Given the description of an element on the screen output the (x, y) to click on. 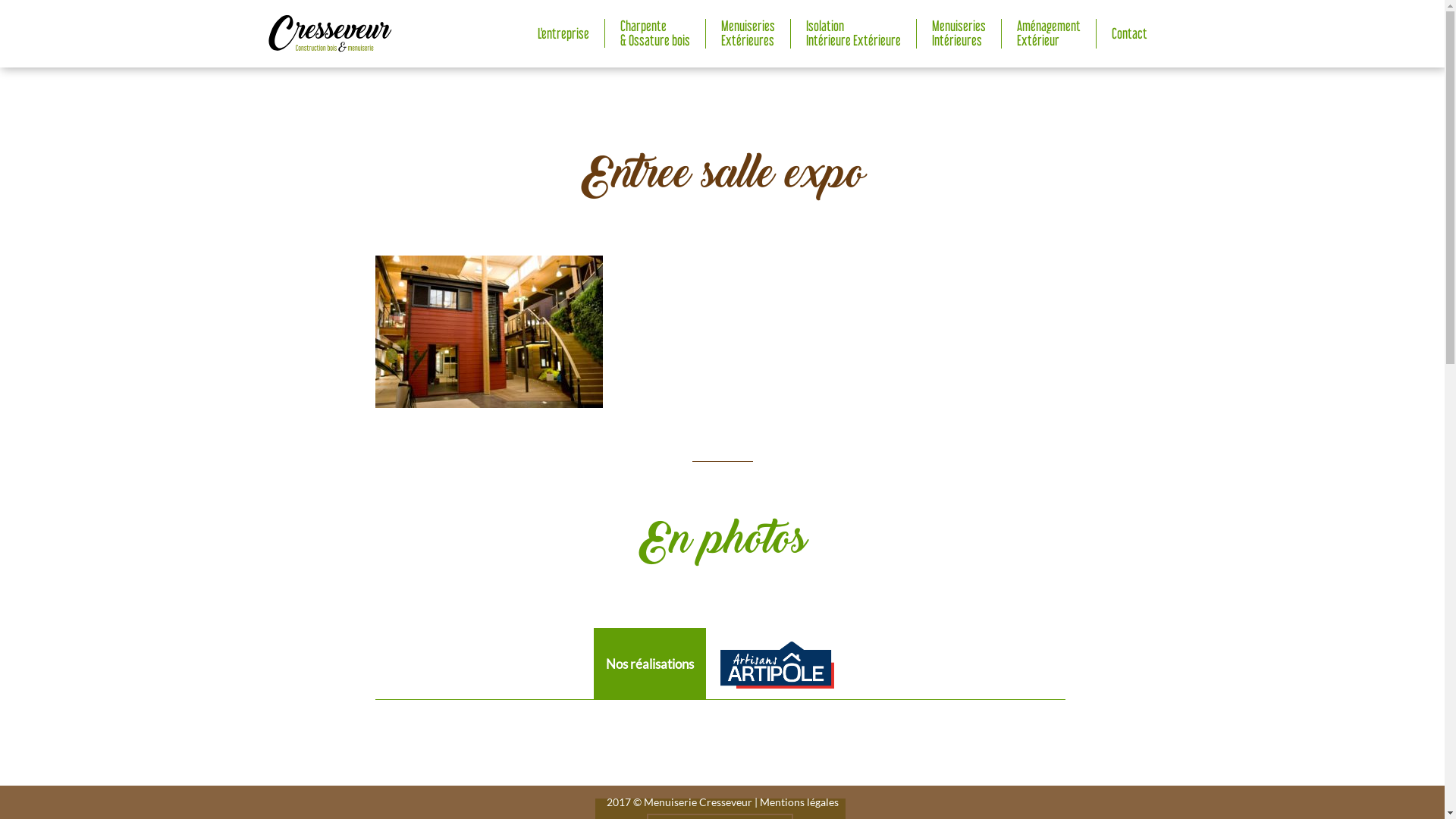
Charpente
& Ossature bois Element type: text (655, 33)
Accueil Element type: hover (329, 31)
Contact Element type: text (1129, 33)
L'entreprise Element type: text (562, 33)
